Given the description of an element on the screen output the (x, y) to click on. 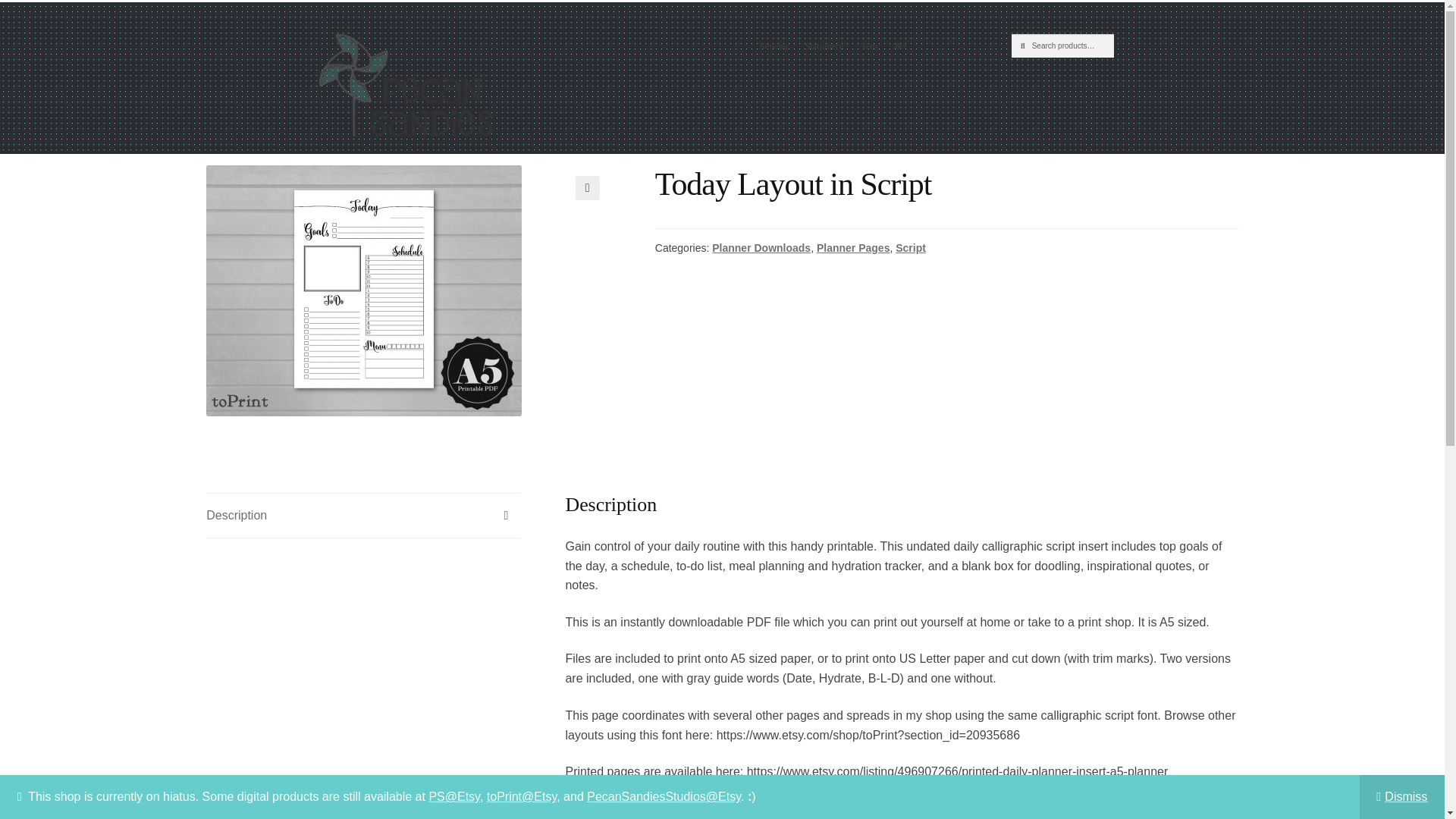
Planner Downloads (760, 247)
Tees (868, 45)
Sewing (773, 45)
Description (362, 515)
Stationery (824, 45)
Script (910, 247)
Planner Pages (852, 247)
